Given the description of an element on the screen output the (x, y) to click on. 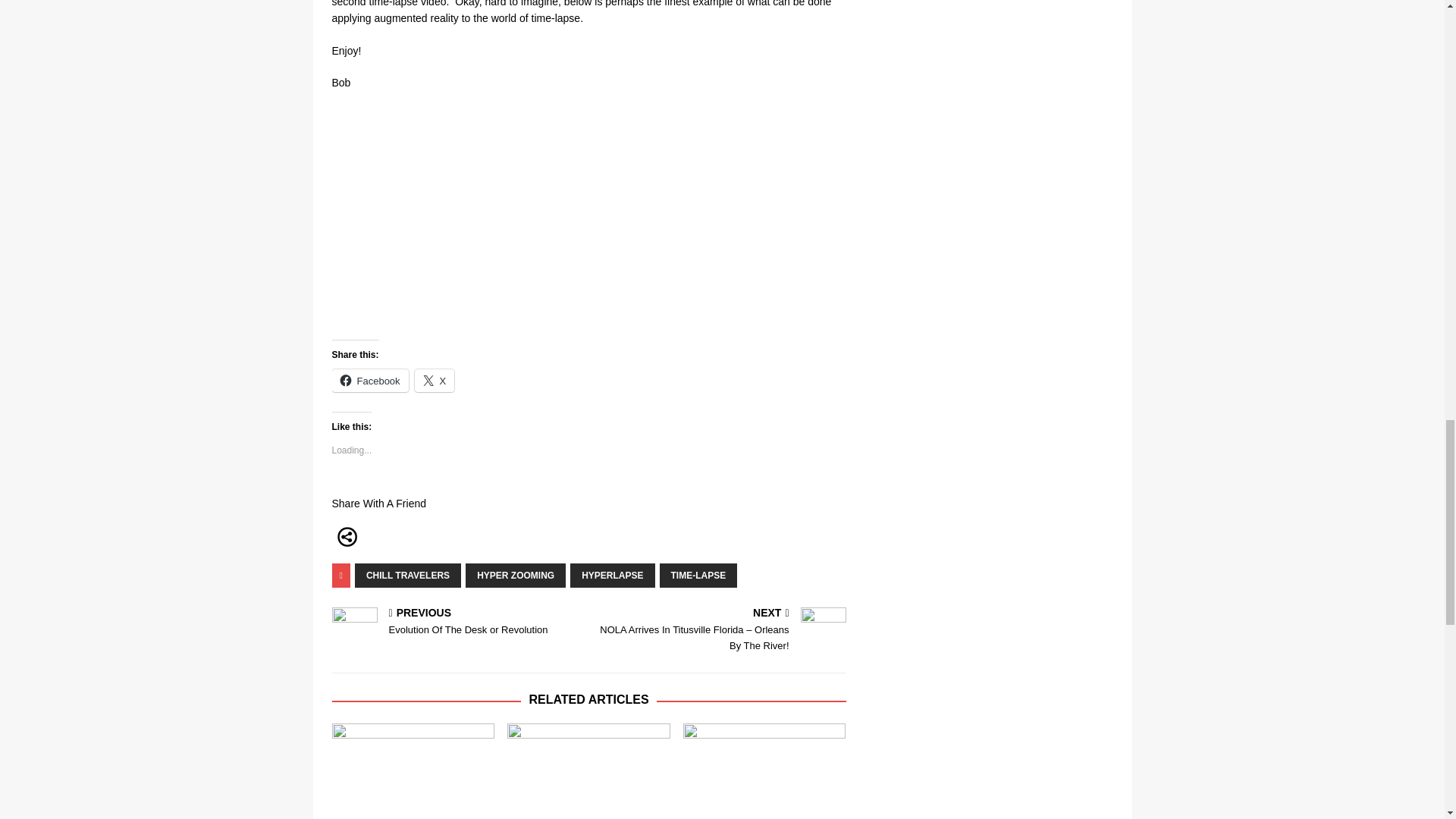
TIME-LAPSE (698, 575)
X (434, 380)
HYPER ZOOMING (457, 622)
HYPERLAPSE (515, 575)
Facebook (611, 575)
CHILL TRAVELERS (370, 380)
Click to share on X (408, 575)
Click to share on Facebook (434, 380)
